Given the description of an element on the screen output the (x, y) to click on. 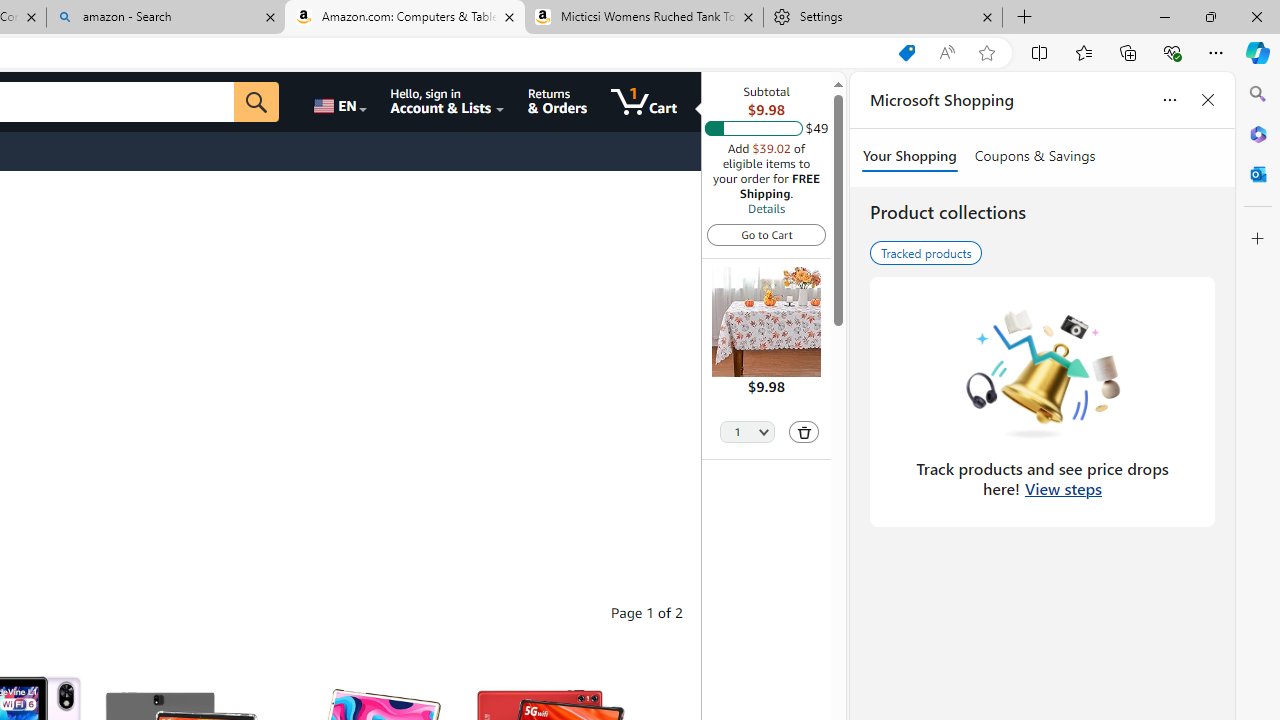
amazon - Search (166, 17)
Details (765, 208)
Choose a language for shopping. (339, 101)
Shopping in Microsoft Edge (906, 53)
